Given the description of an element on the screen output the (x, y) to click on. 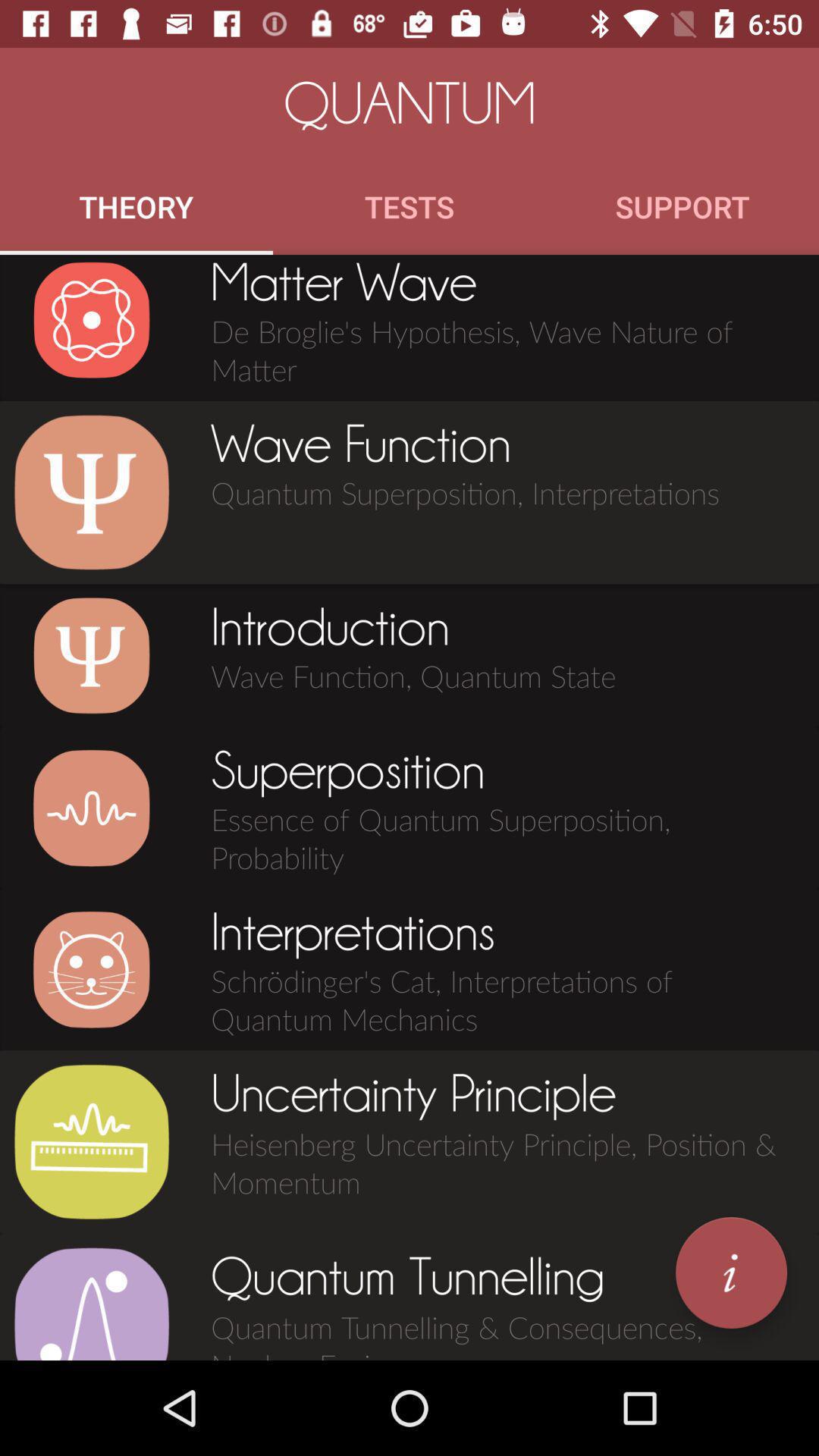
view button (91, 655)
